Given the description of an element on the screen output the (x, y) to click on. 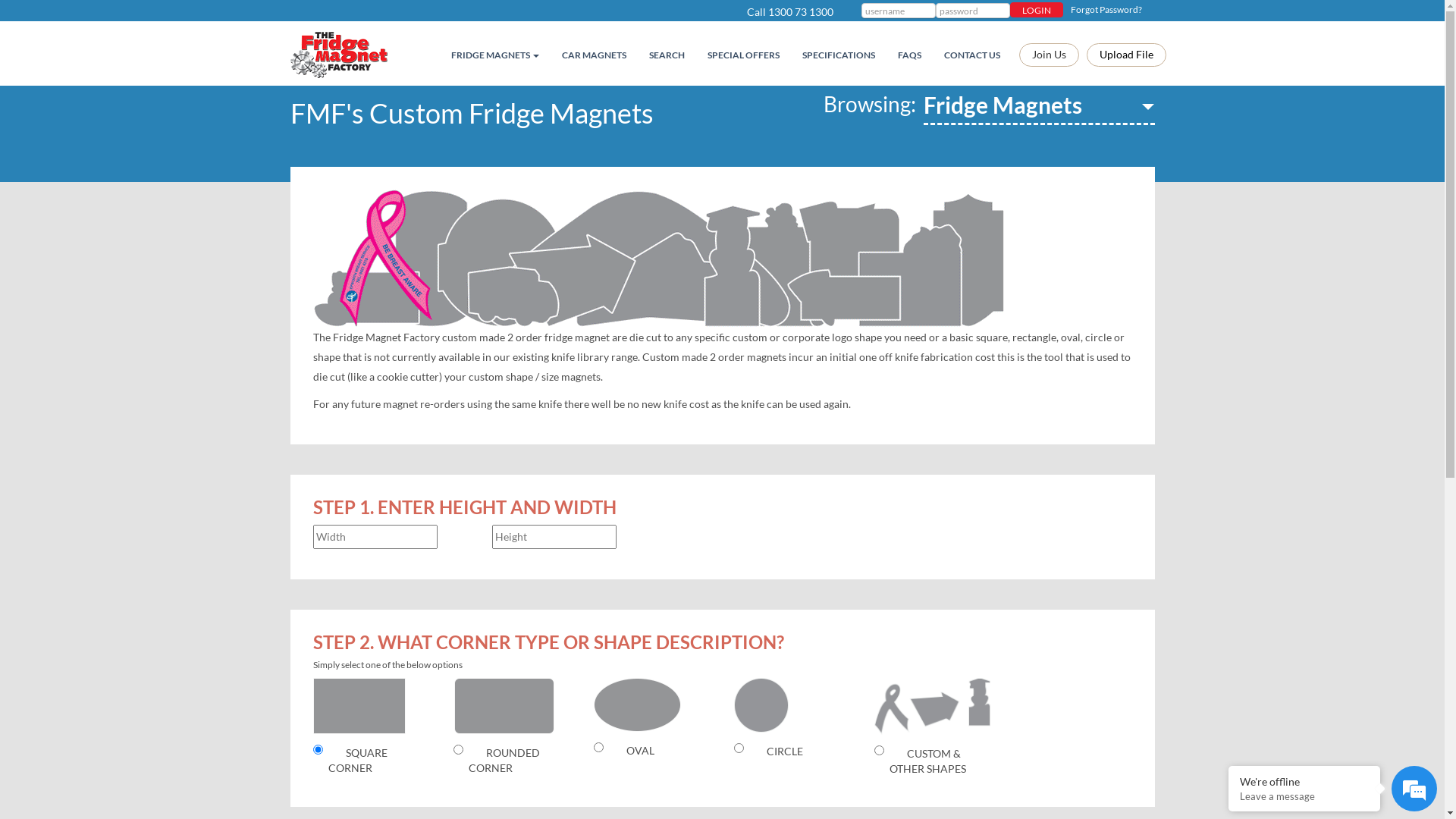
CUS Element type: text (878, 750)
Join Us Element type: text (1049, 54)
ROC Element type: text (458, 749)
LOGIN Element type: text (1036, 9)
OC Element type: text (597, 747)
FRIDGE MAGNETS Element type: text (494, 54)
Forgot Password? Element type: text (1102, 9)
SEARCH Element type: text (666, 54)
OCC Element type: text (738, 748)
SPECIFICATIONS Element type: text (837, 54)
CONTACT US Element type: text (971, 54)
Upload File Element type: text (1125, 54)
SPECIAL OFFERS Element type: text (743, 54)
FAQS Element type: text (908, 54)
SQC Element type: text (317, 749)
CAR MAGNETS Element type: text (593, 54)
